Given the description of an element on the screen output the (x, y) to click on. 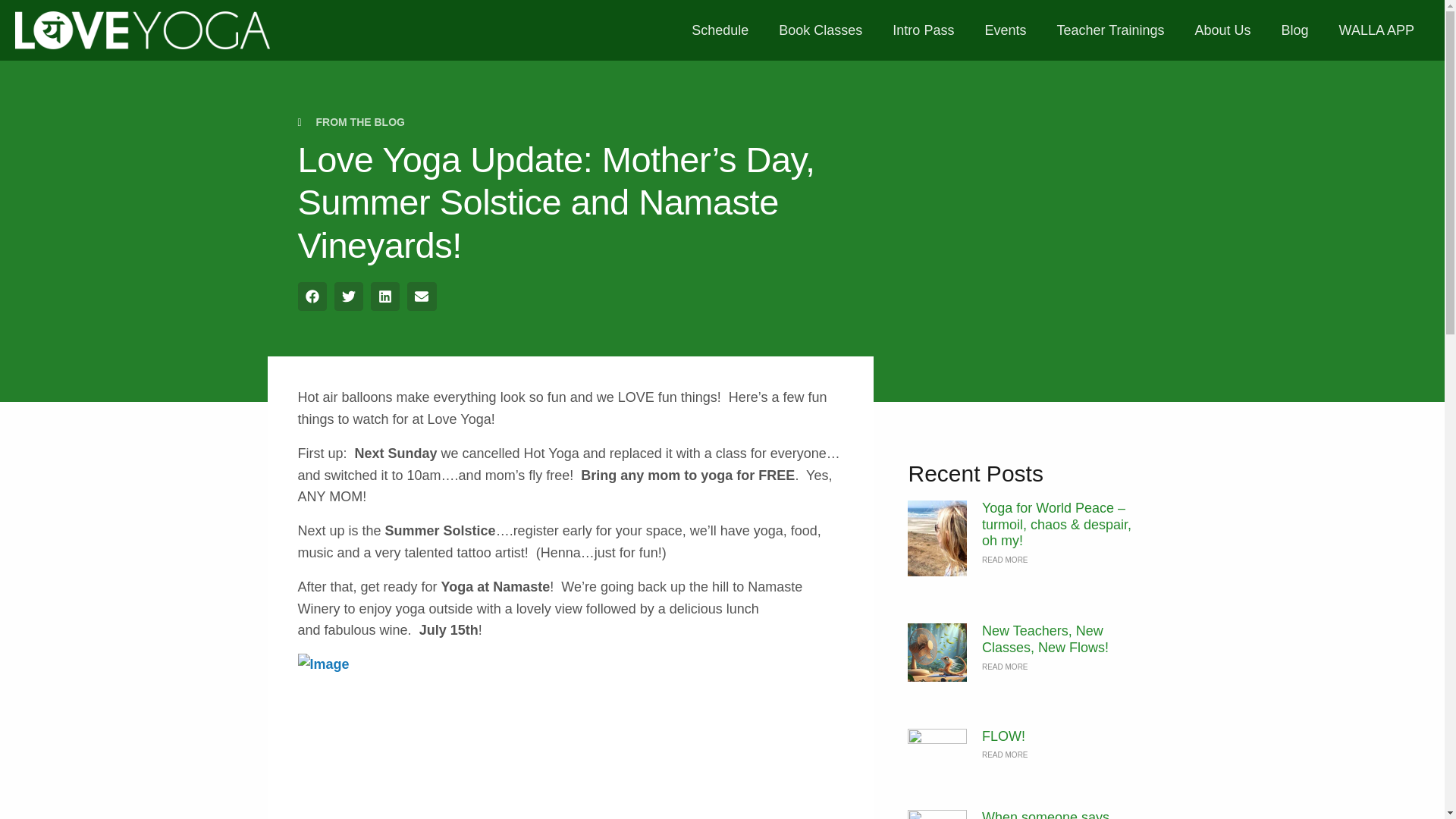
About Us (1222, 29)
Intro Pass (923, 29)
Blog (1294, 29)
WALLA APP (1376, 29)
Teacher Trainings (1110, 29)
Book Classes (819, 29)
FROM THE BLOG (359, 121)
Schedule (719, 29)
Events (1005, 29)
